Given the description of an element on the screen output the (x, y) to click on. 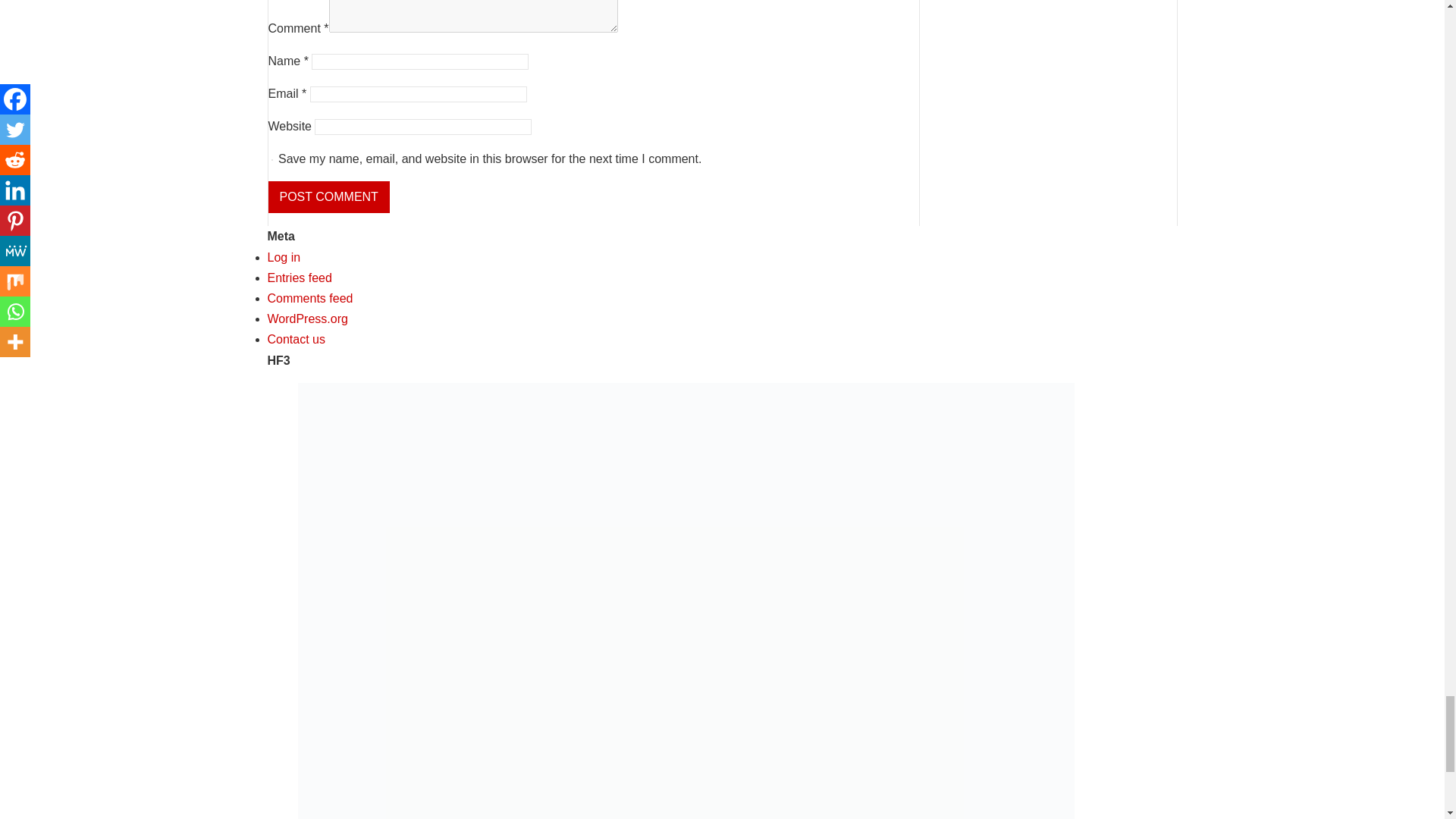
Post Comment (328, 196)
